Given the description of an element on the screen output the (x, y) to click on. 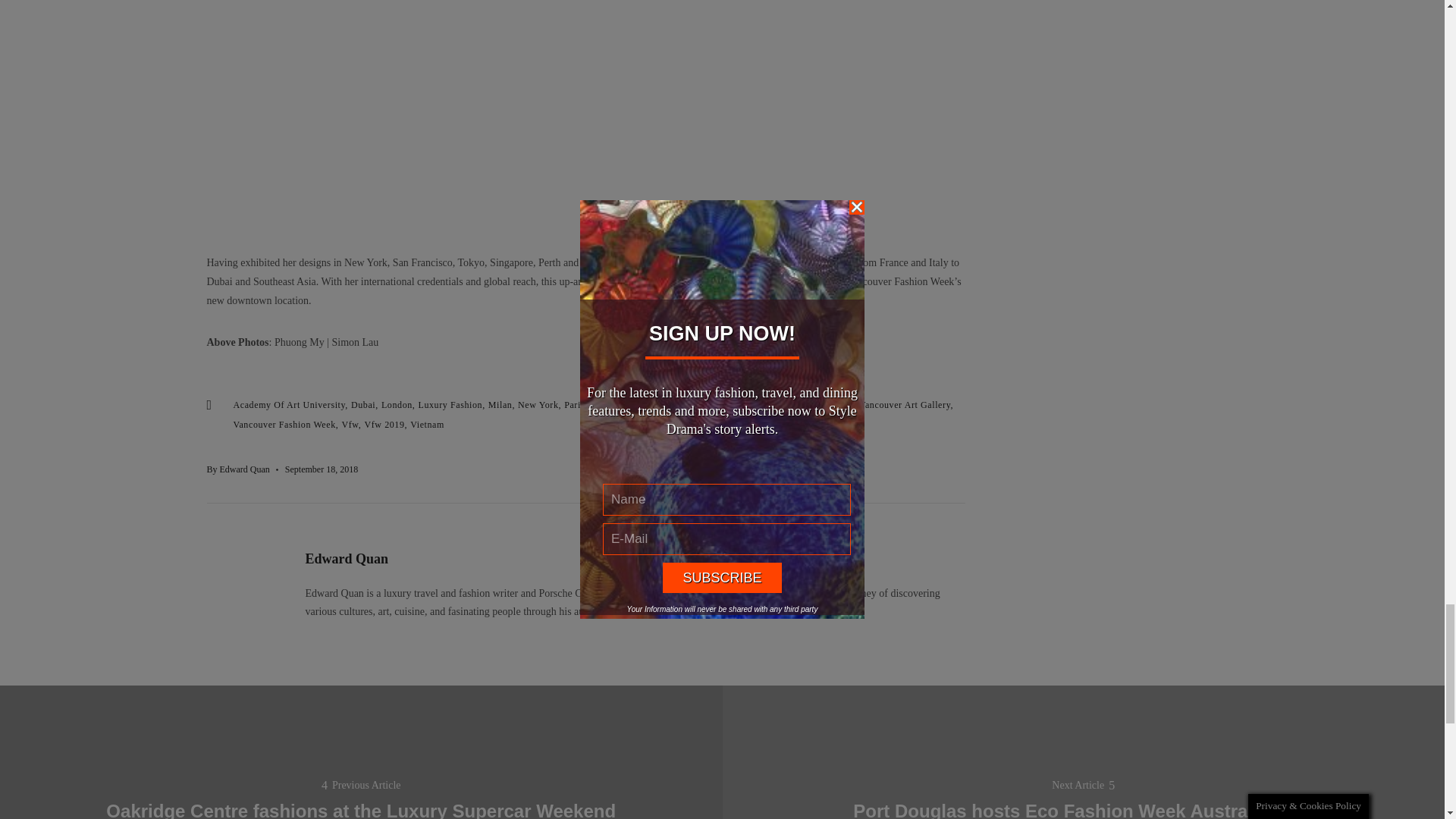
Vancouver Art Gallery (906, 405)
Singapore (754, 405)
Dubai (364, 405)
San Francisco (699, 405)
Vancouver Fashion Week (285, 425)
Vfw (350, 425)
London (397, 405)
Phuong My (641, 405)
New York (539, 405)
Perth (602, 405)
Paris (576, 405)
Vietnam (427, 425)
Luxury Fashion (450, 405)
Milan (501, 405)
Edward Quan (244, 469)
